Given the description of an element on the screen output the (x, y) to click on. 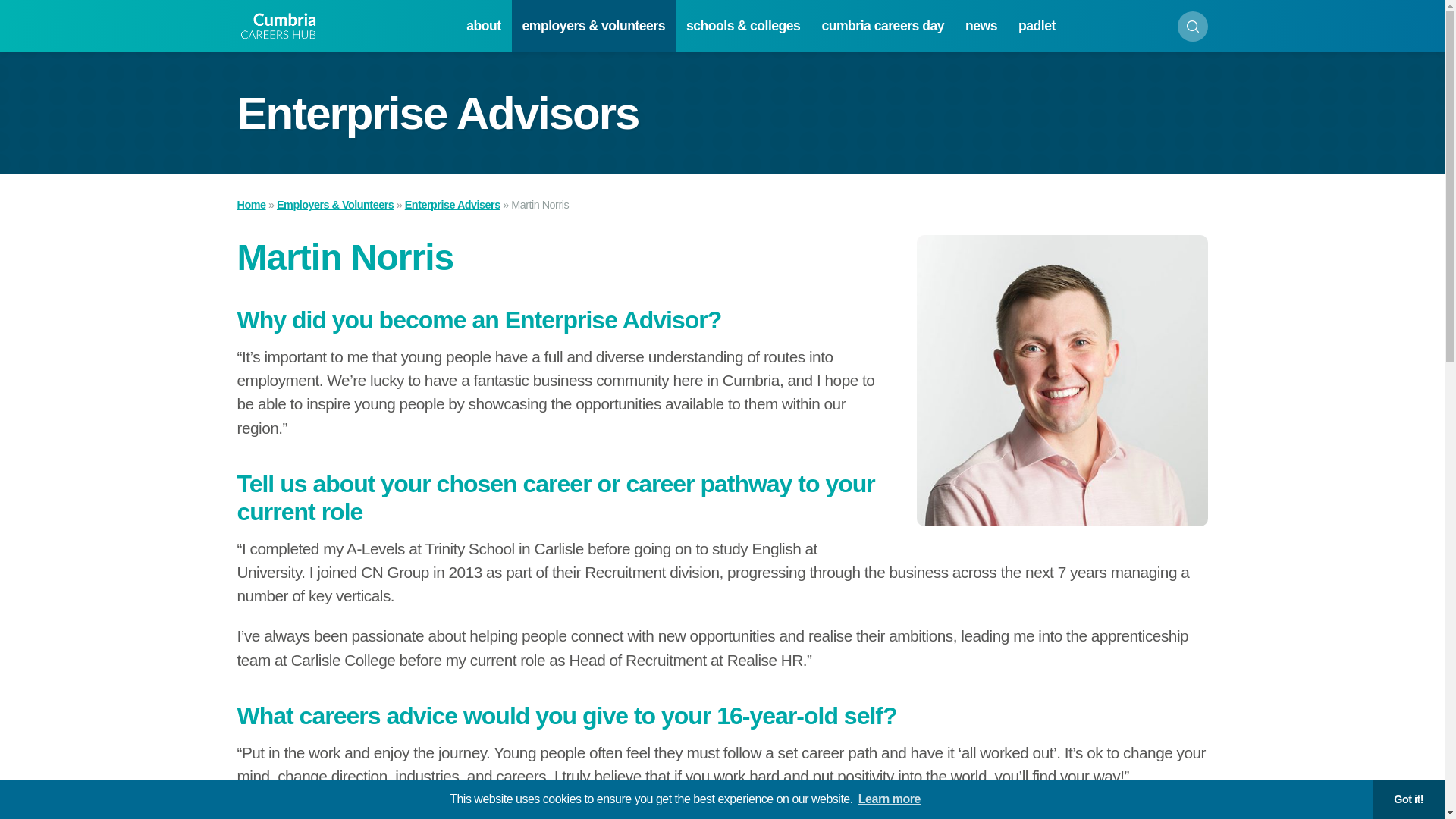
Home (249, 204)
Go to Enterprise Advisers. (452, 204)
news (981, 26)
Search (1191, 25)
about (483, 26)
Go to Cumbria Careers Hub. (249, 204)
Enterprise Advisers (452, 204)
Learn more (889, 798)
padlet (1036, 26)
cumbria careers day (882, 26)
